Given the description of an element on the screen output the (x, y) to click on. 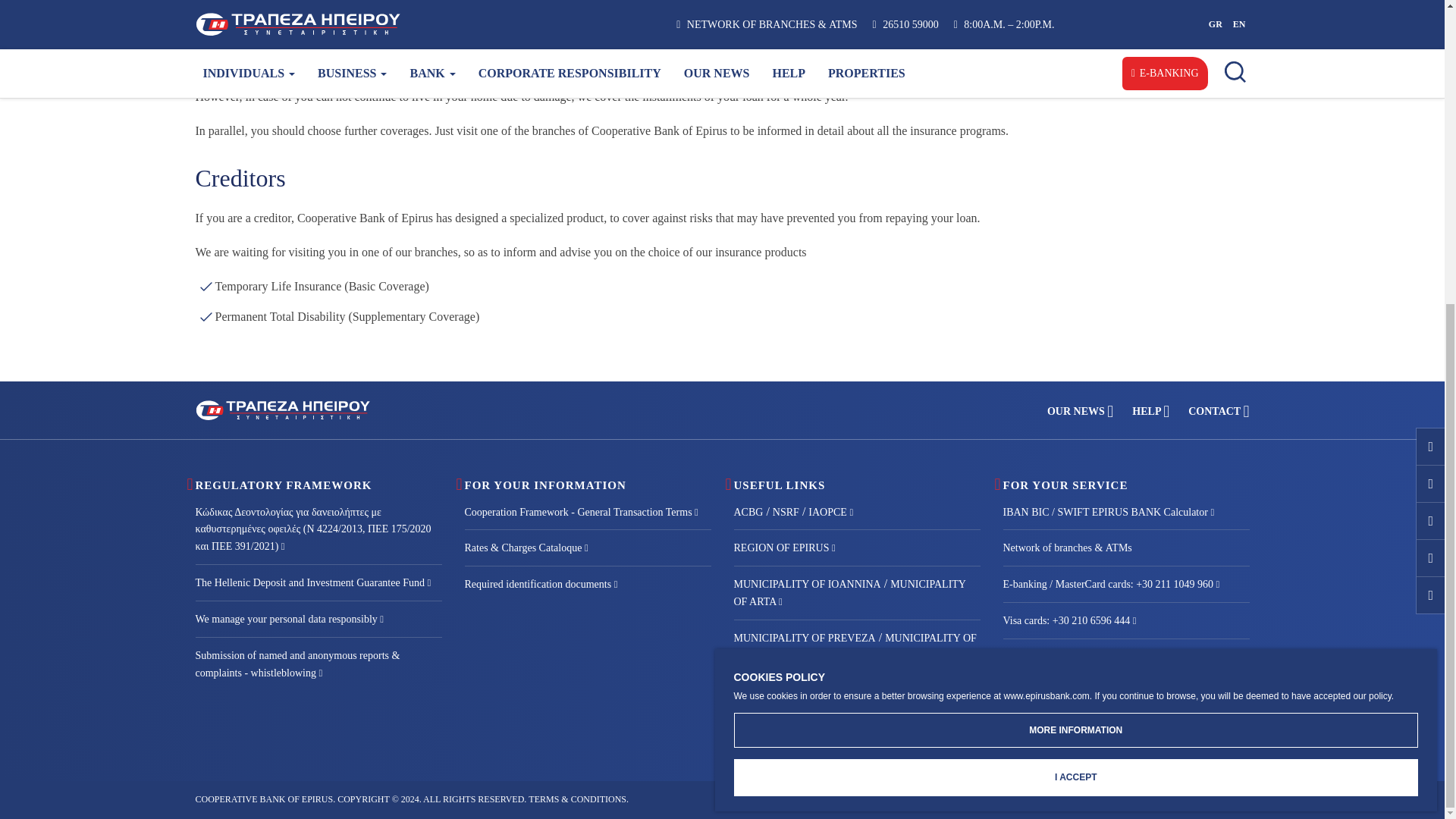
I ACCEPT (1075, 301)
MORE INFORMATION (1075, 253)
